Given the description of an element on the screen output the (x, y) to click on. 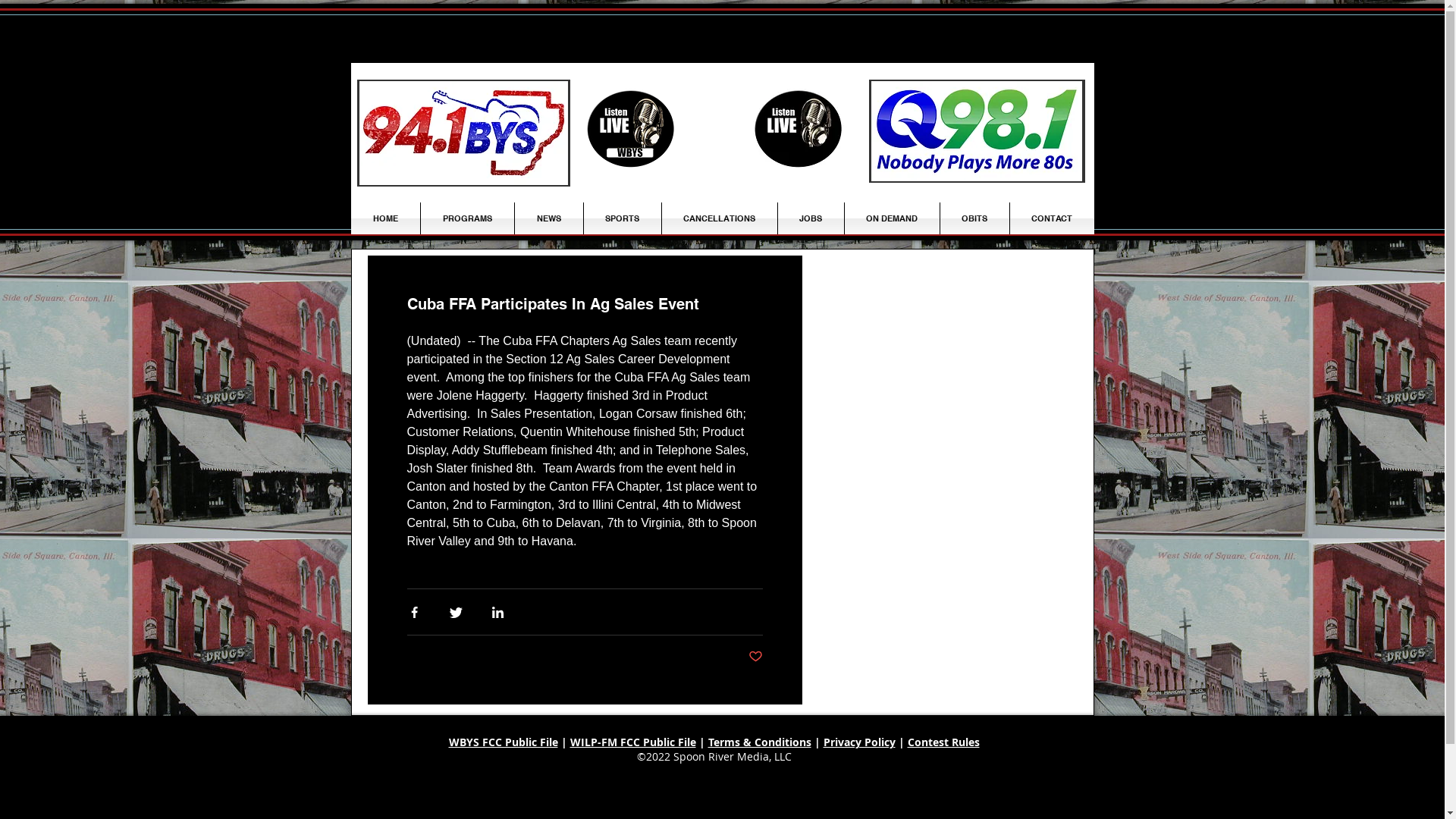
Privacy Policy Element type: text (859, 741)
Contest Rules Element type: text (942, 741)
WBYS FCC Public File Element type: text (503, 741)
OBITS Element type: text (974, 218)
ON DEMAND Element type: text (891, 218)
WILP-FM FCC Public File Element type: text (633, 741)
Terms & Conditions Element type: text (759, 741)
JOBS Element type: text (811, 218)
Post not marked as liked Element type: text (754, 657)
PROGRAMS Element type: text (466, 218)
CONTACT Element type: text (1052, 218)
Embedded Content Element type: hover (952, 373)
CANCELLATIONS Element type: text (718, 218)
HOME Element type: text (384, 218)
